Given the description of an element on the screen output the (x, y) to click on. 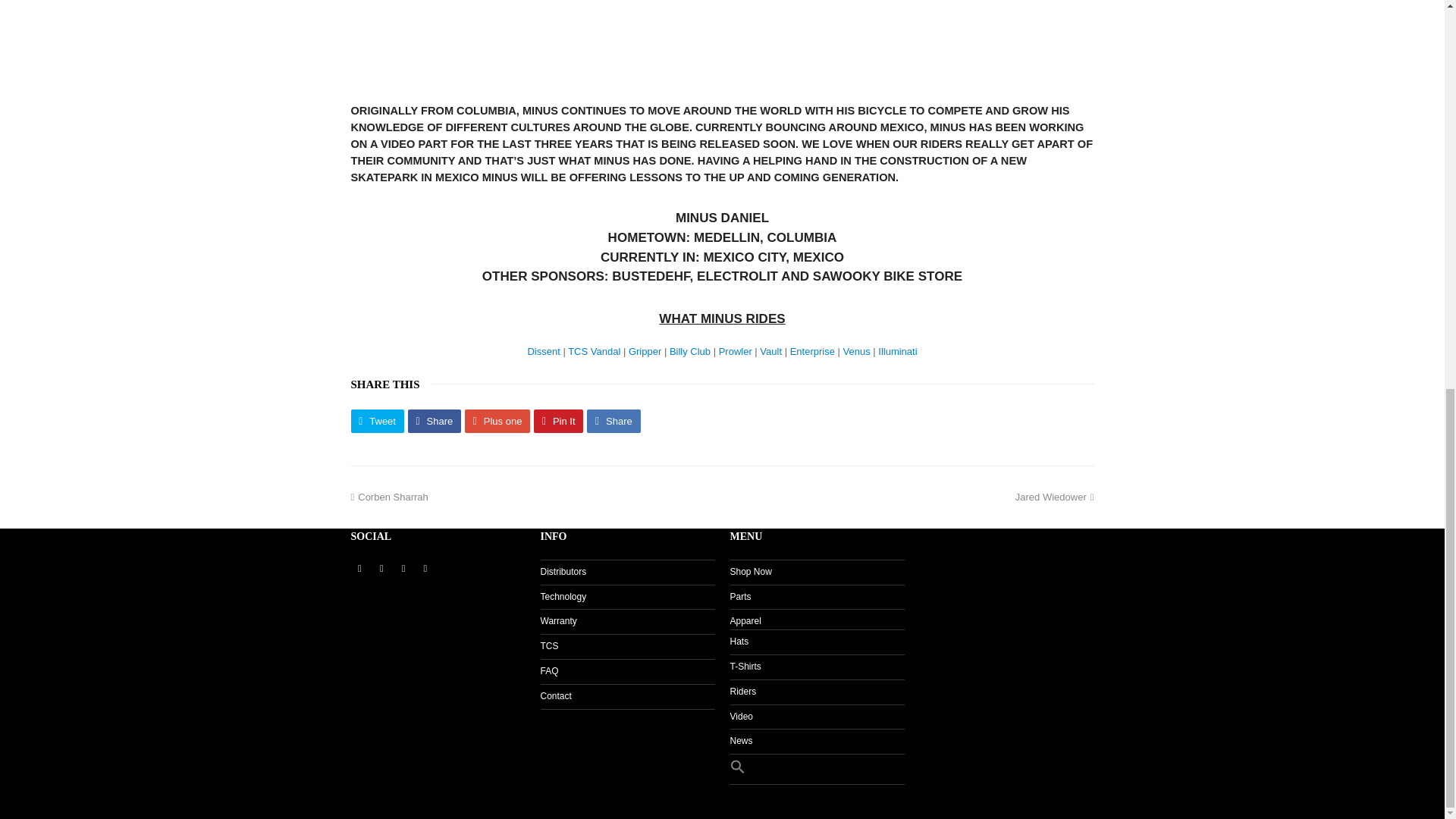
Billy Club (689, 351)
Share on LinkedIn (613, 421)
Venus (856, 351)
Prowler (735, 351)
Dissent (543, 351)
Share on Pinterest (558, 421)
Twitter (359, 568)
Vault (770, 351)
Illuminati (897, 351)
Share on Twitter (376, 421)
Facebook (381, 568)
Gripper (644, 351)
TCS Vandal (593, 351)
Instagram (403, 568)
Youtube (424, 568)
